Given the description of an element on the screen output the (x, y) to click on. 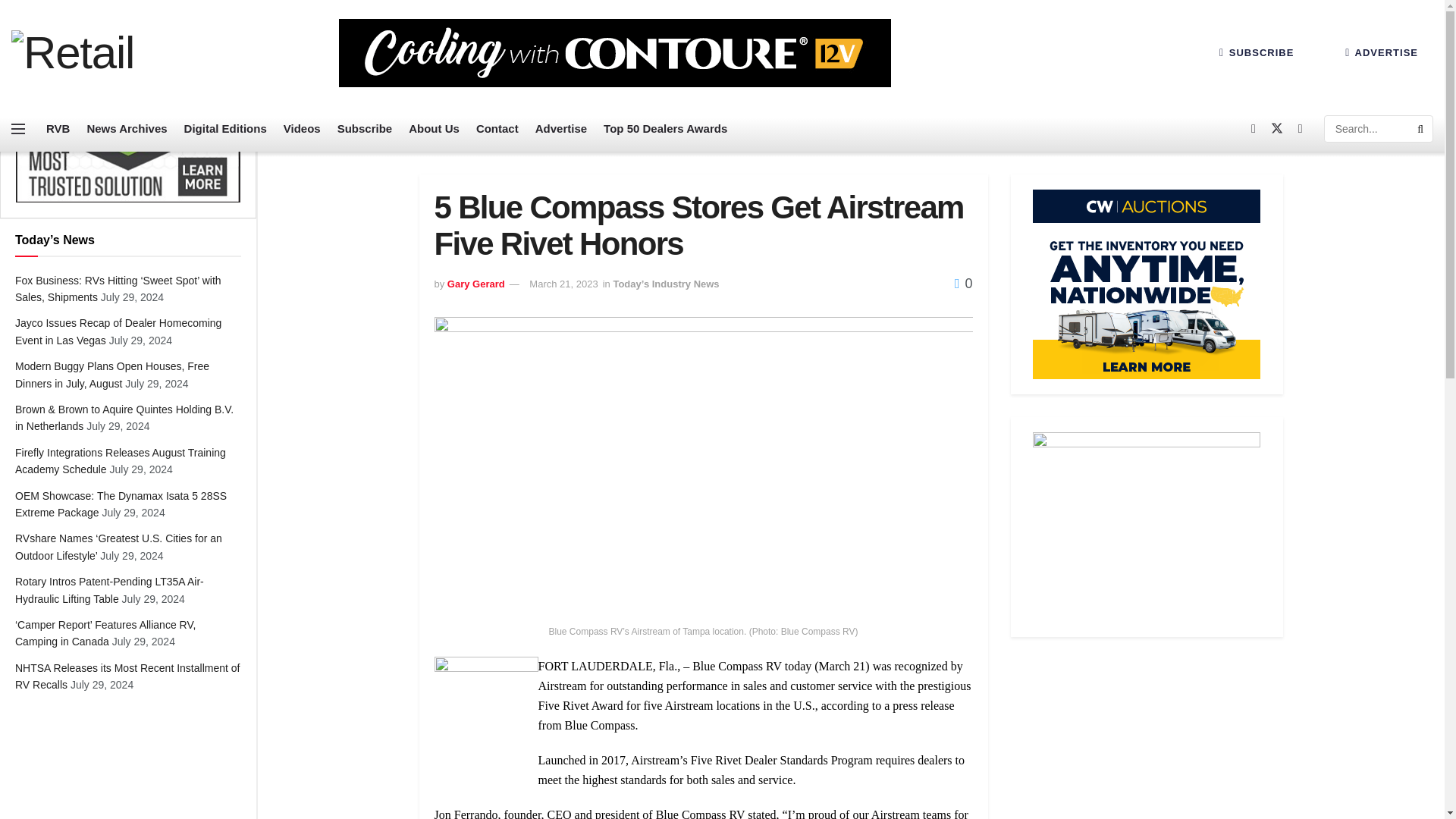
About Us (434, 128)
Modern Buggy Plans Open Houses, Free Dinners in July, August (111, 374)
Jayco Issues Recap of Dealer Homecoming Event in Las Vegas (117, 330)
Subscribe (365, 128)
Advertise (560, 128)
OEM Showcase: The Dynamax Isata 5 28SS Extreme Package (120, 503)
SUBSCRIBE (1256, 52)
ADVERTISE (1381, 52)
Top 50 Dealers Awards (665, 128)
Contact (497, 128)
Digital Editions (225, 128)
News Archives (126, 128)
NHTSA Releases its Most Recent Installment of RV Recalls (127, 676)
